Given the description of an element on the screen output the (x, y) to click on. 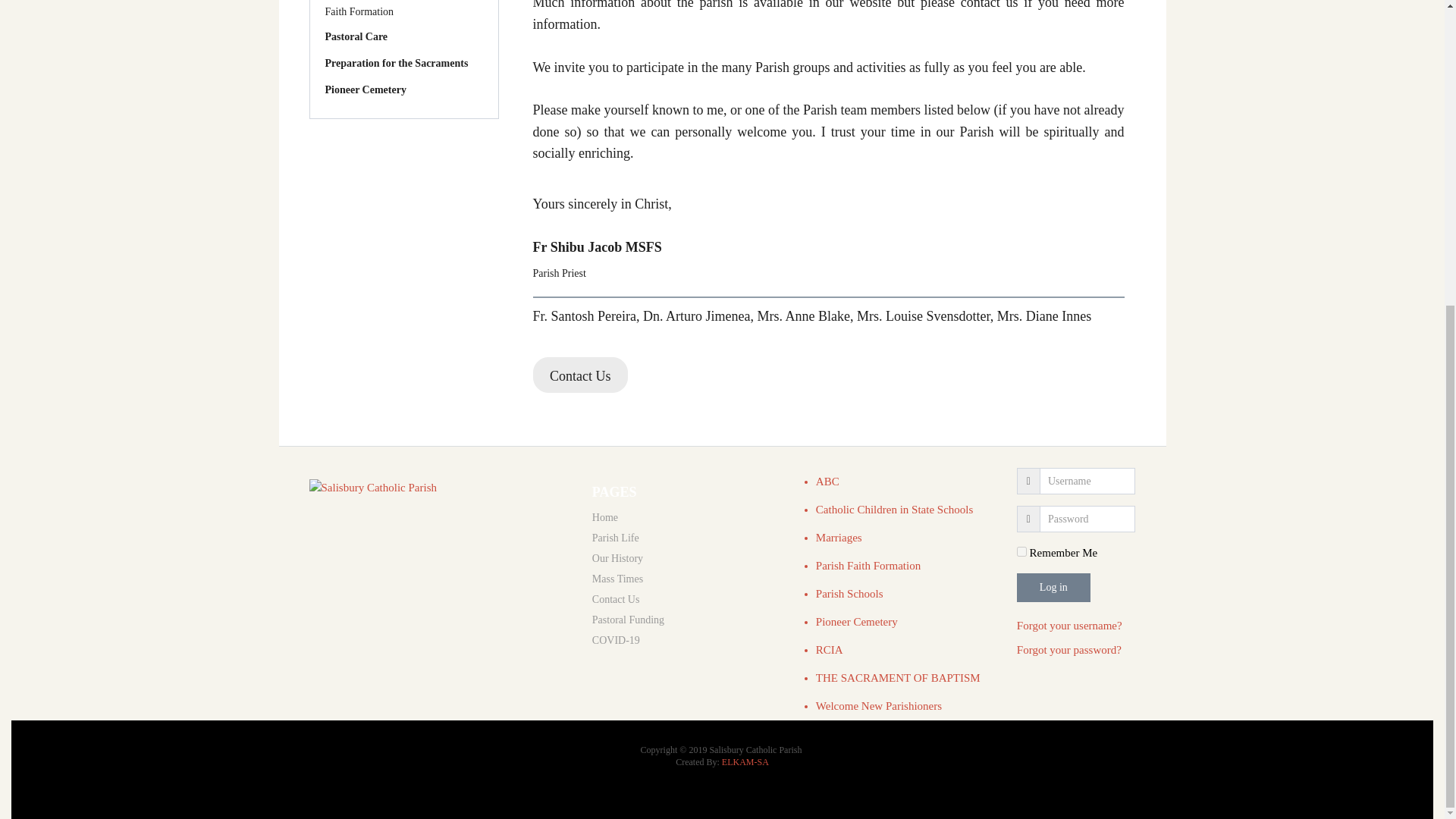
Marriages (838, 537)
COVID-19 (686, 640)
Our History (686, 558)
Contact Us (686, 599)
Preparation for the Sacraments (402, 63)
ABC (827, 481)
Home (686, 517)
Log in (1053, 587)
Mass Times (686, 578)
Parish Faith Formation (867, 565)
